Given the description of an element on the screen output the (x, y) to click on. 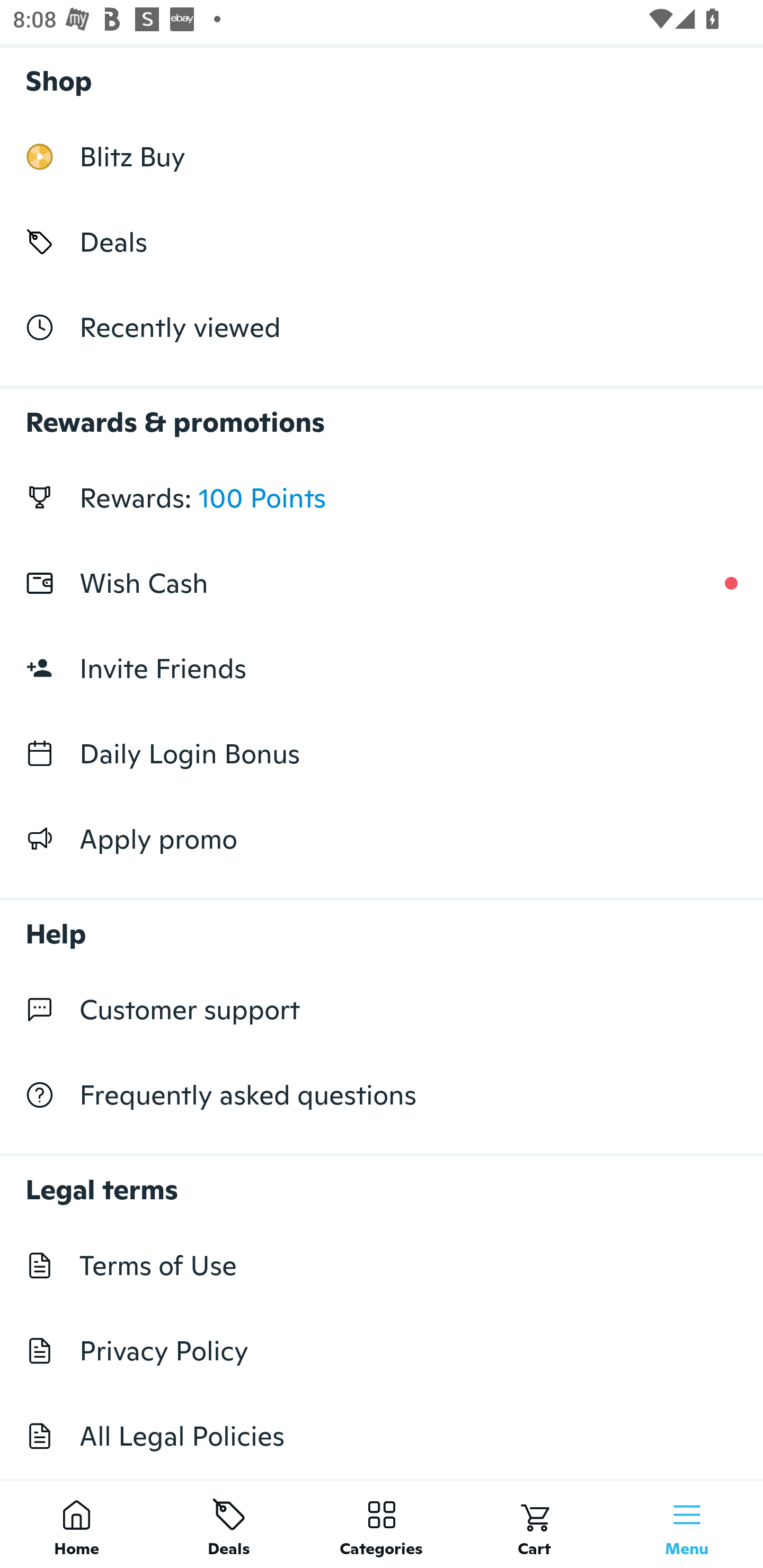
Shop (381, 75)
Blitz Buy (381, 156)
Deals (381, 242)
Recently viewed (381, 326)
Rewards & promotions (381, 413)
Rewards: 100 Points (381, 497)
Wish Cash (381, 582)
Invite Friends (381, 668)
Daily Login Bonus (381, 753)
Apply promo (381, 838)
Help (381, 924)
Customer support (381, 1009)
Frequently asked questions (381, 1095)
Legal terms (381, 1179)
Terms of Use (381, 1265)
Privacy Policy (381, 1350)
All Legal Policies (381, 1435)
Home (76, 1523)
Deals (228, 1523)
Categories (381, 1523)
Cart (533, 1523)
Menu (686, 1523)
